Given the description of an element on the screen output the (x, y) to click on. 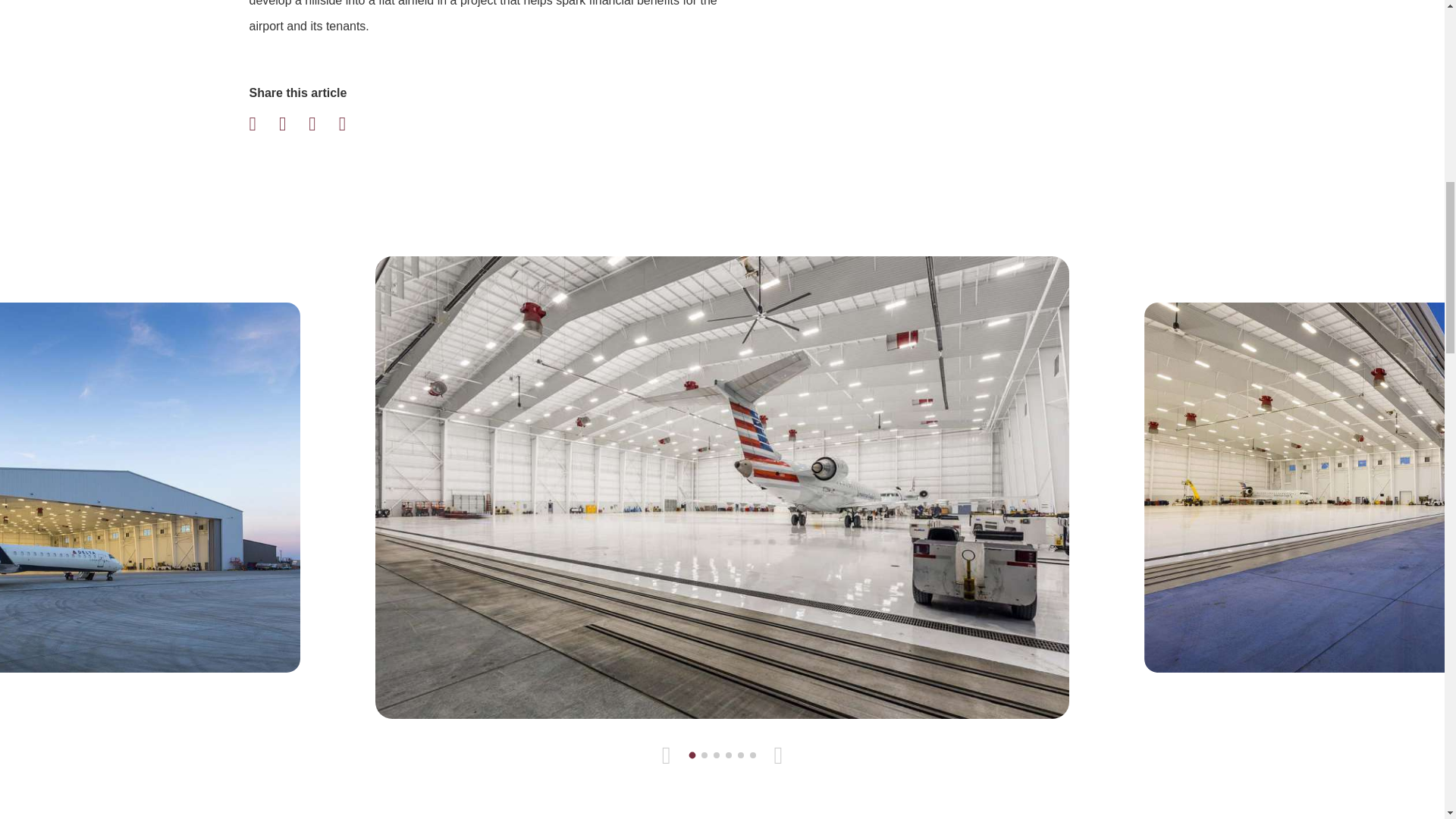
Share on Facebook (261, 123)
Share on LinkedIn (321, 123)
Share on Twitter (292, 123)
Share by Email (352, 123)
